Given the description of an element on the screen output the (x, y) to click on. 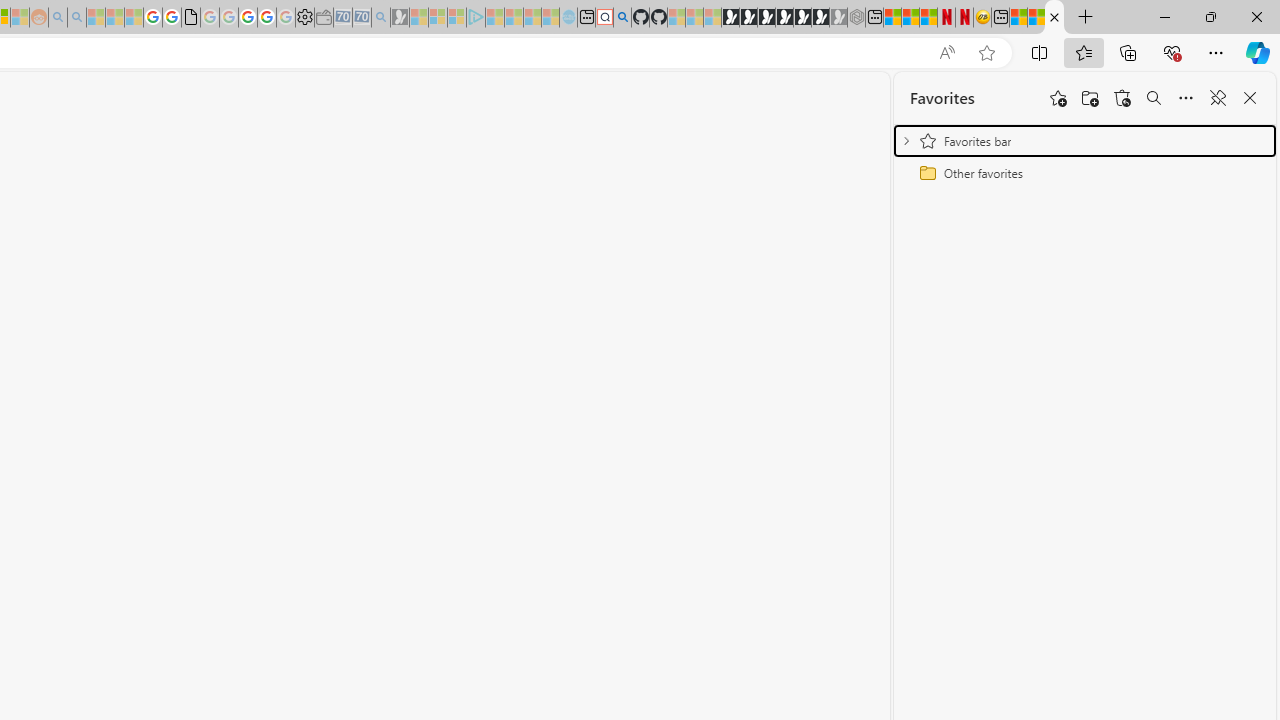
Close favorites (1250, 98)
Restore deleted favorites (1122, 98)
